Given the description of an element on the screen output the (x, y) to click on. 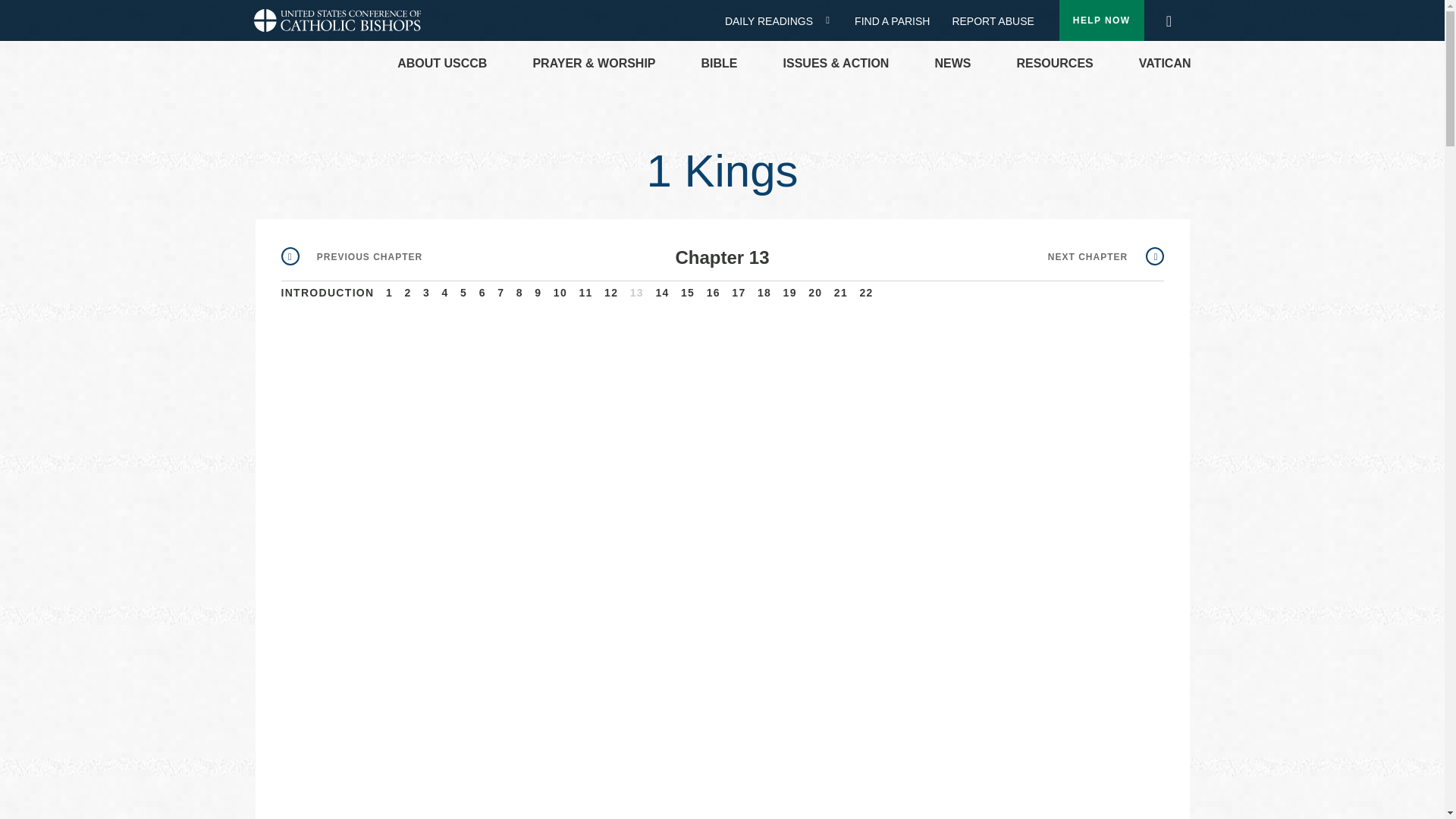
Go (1173, 21)
Go to next page (1105, 256)
Link list for Vatican website (1165, 62)
DAILY READINGS CALENDAR (832, 20)
REPORT ABUSE (992, 20)
DAILY READINGS (774, 20)
Search (1168, 16)
FIND A PARISH (897, 20)
Go to previous page (351, 256)
